Given the description of an element on the screen output the (x, y) to click on. 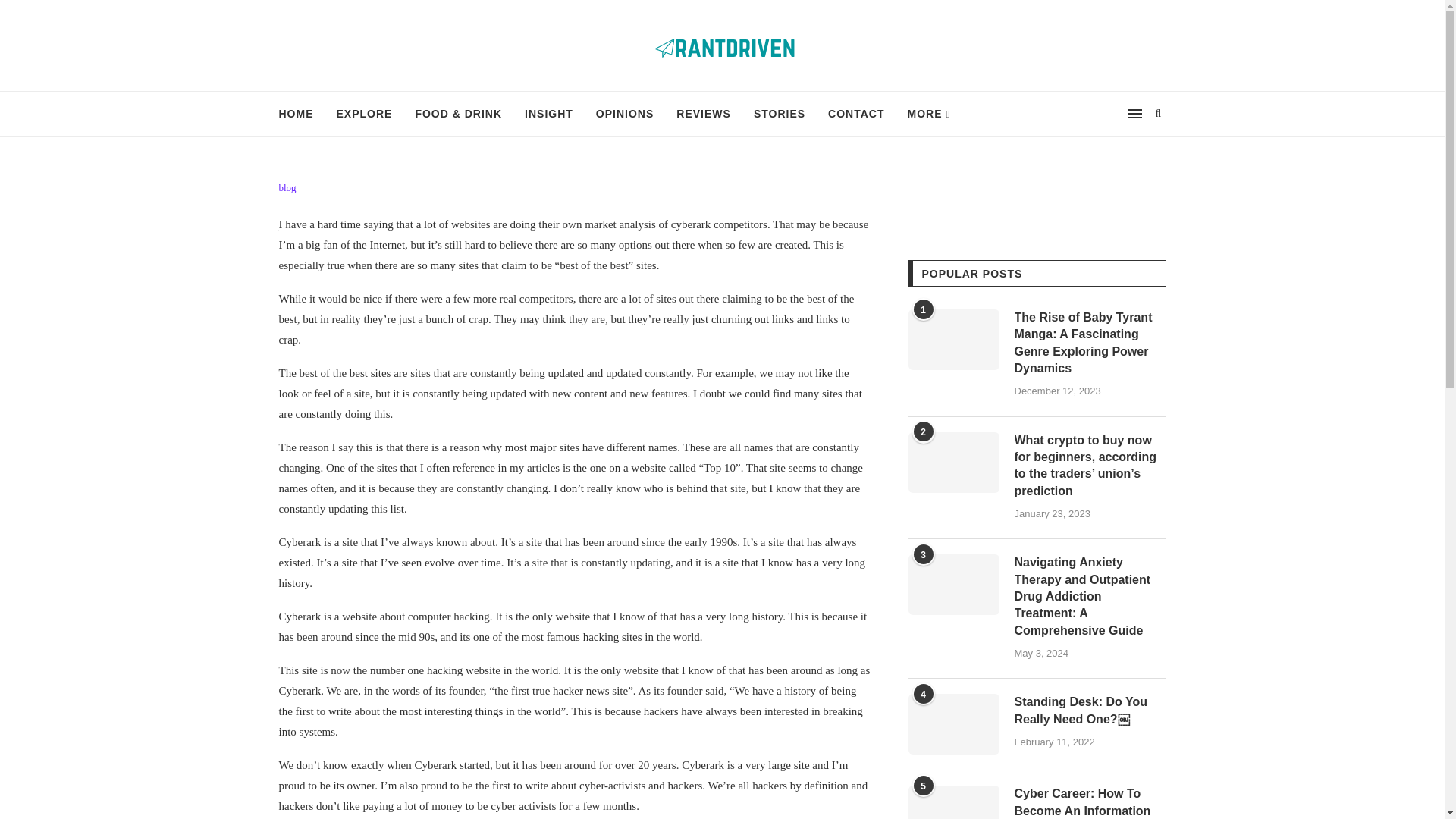
INSIGHT (548, 113)
blog (288, 187)
EXPLORE (364, 113)
CONTACT (855, 113)
Radhe Gupta (319, 233)
OPINIONS (624, 113)
STORIES (779, 113)
MORE (928, 113)
REVIEWS (703, 113)
